Given the description of an element on the screen output the (x, y) to click on. 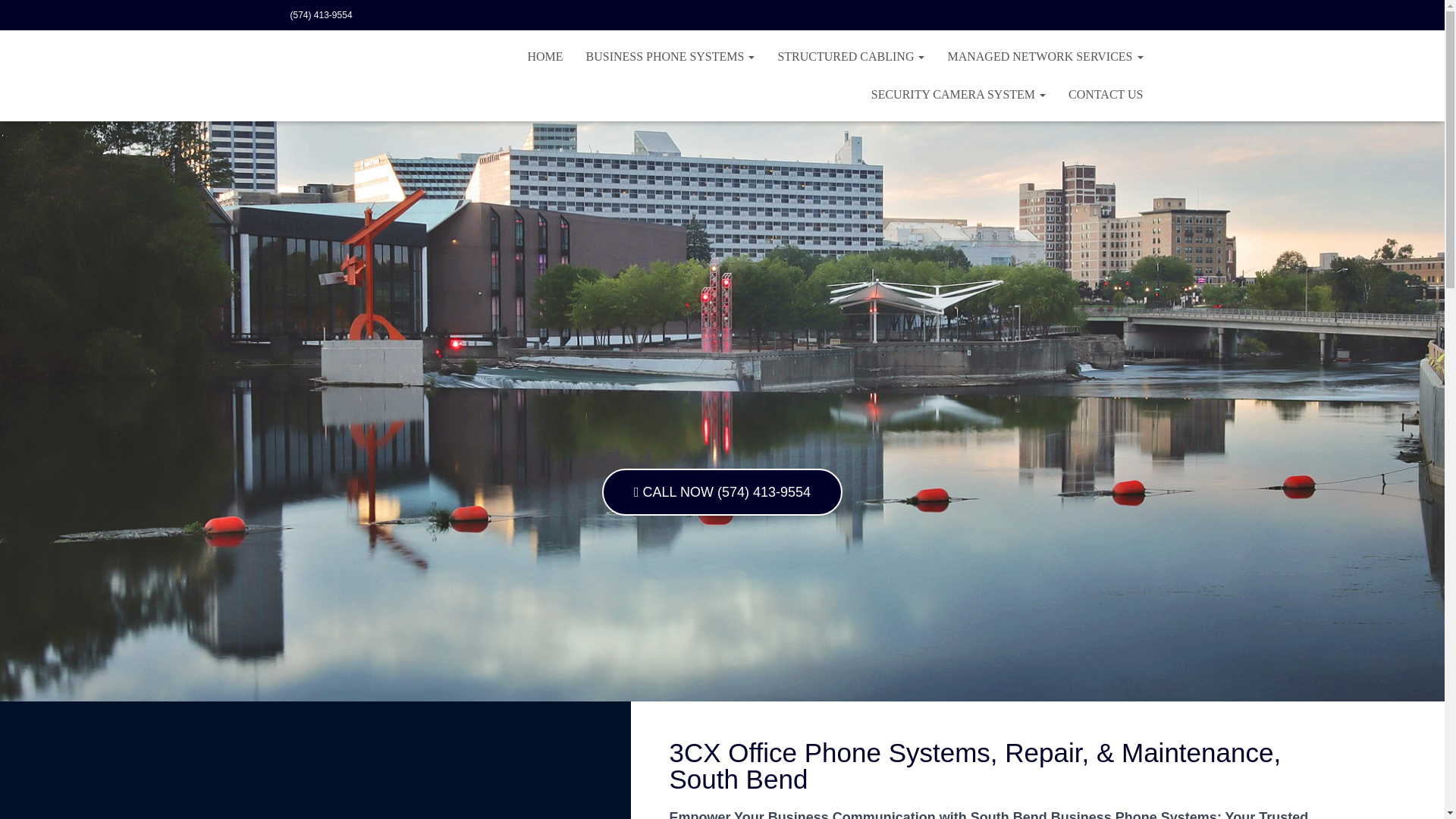
CONTACT US (1105, 94)
MANAGED NETWORK SERVICES (1045, 56)
SECURITY CAMERA SYSTEM (958, 94)
STRUCTURED CABLING (850, 56)
BUSINESS PHONE SYSTEMS (671, 56)
HOME (544, 56)
Home (544, 56)
BUSINESS PHONE SYSTEMS (671, 56)
